Given the description of an element on the screen output the (x, y) to click on. 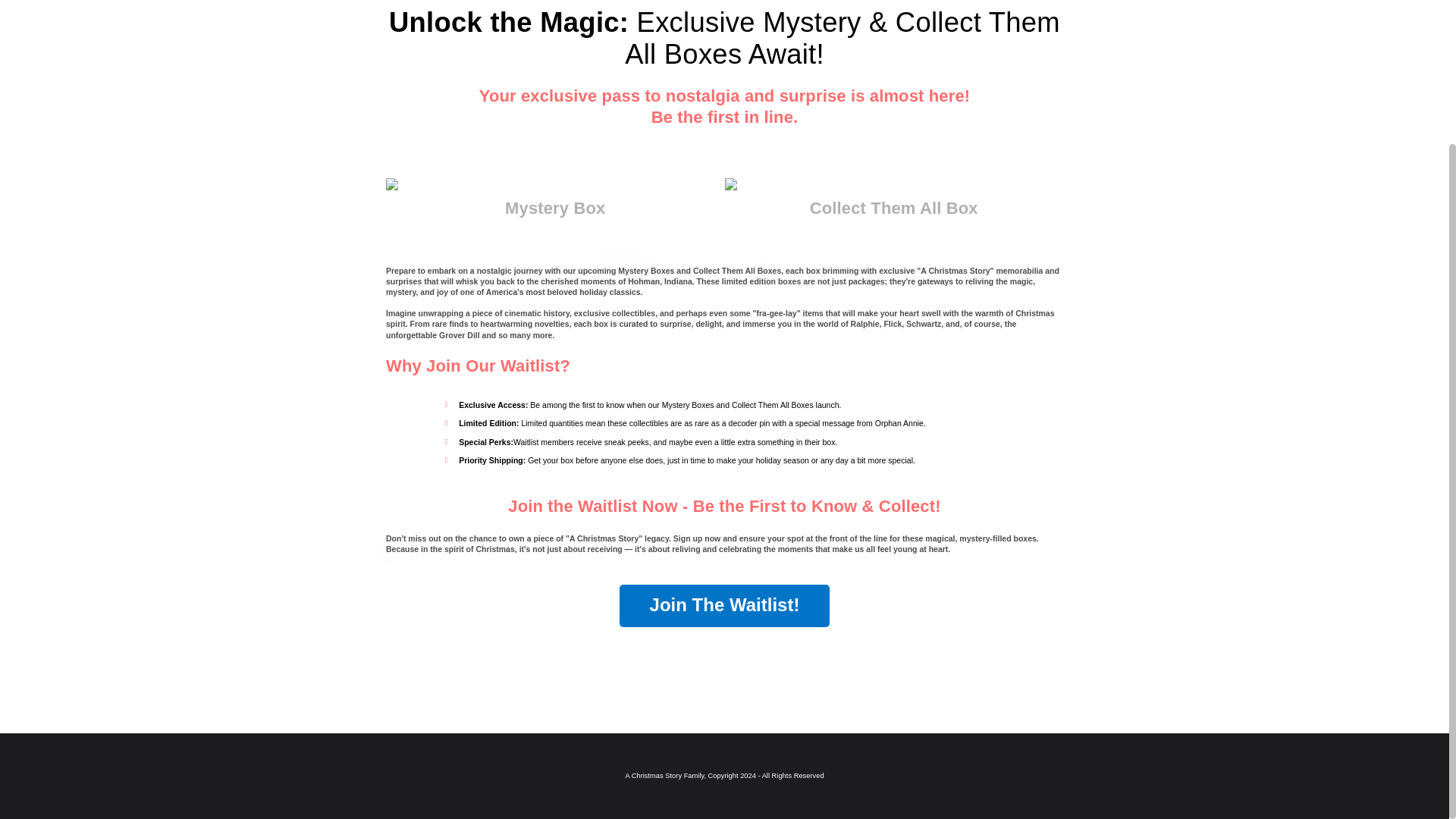
Join The Waitlist! (724, 605)
